Given the description of an element on the screen output the (x, y) to click on. 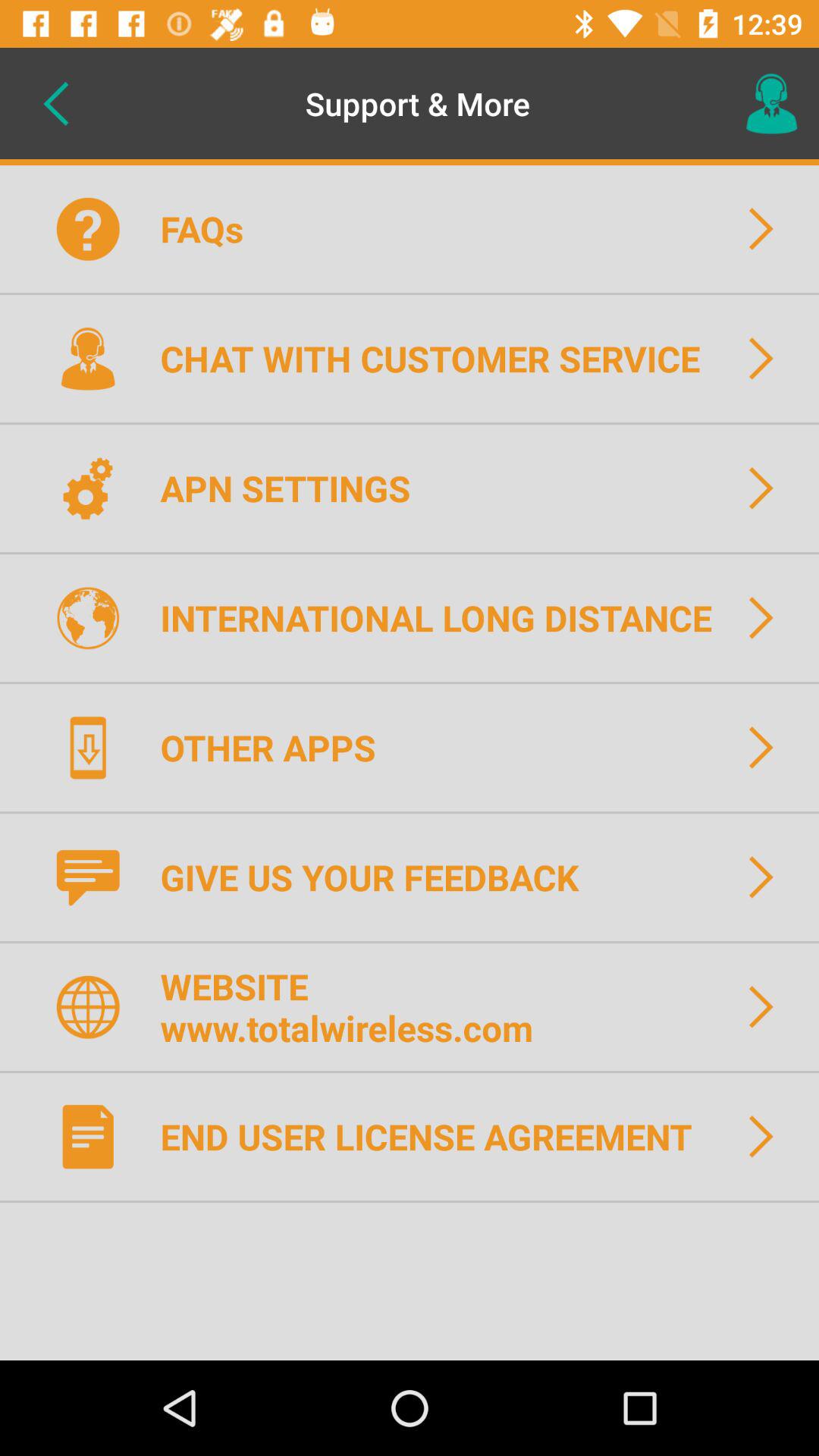
tap the website www totalwireless icon (356, 1007)
